Given the description of an element on the screen output the (x, y) to click on. 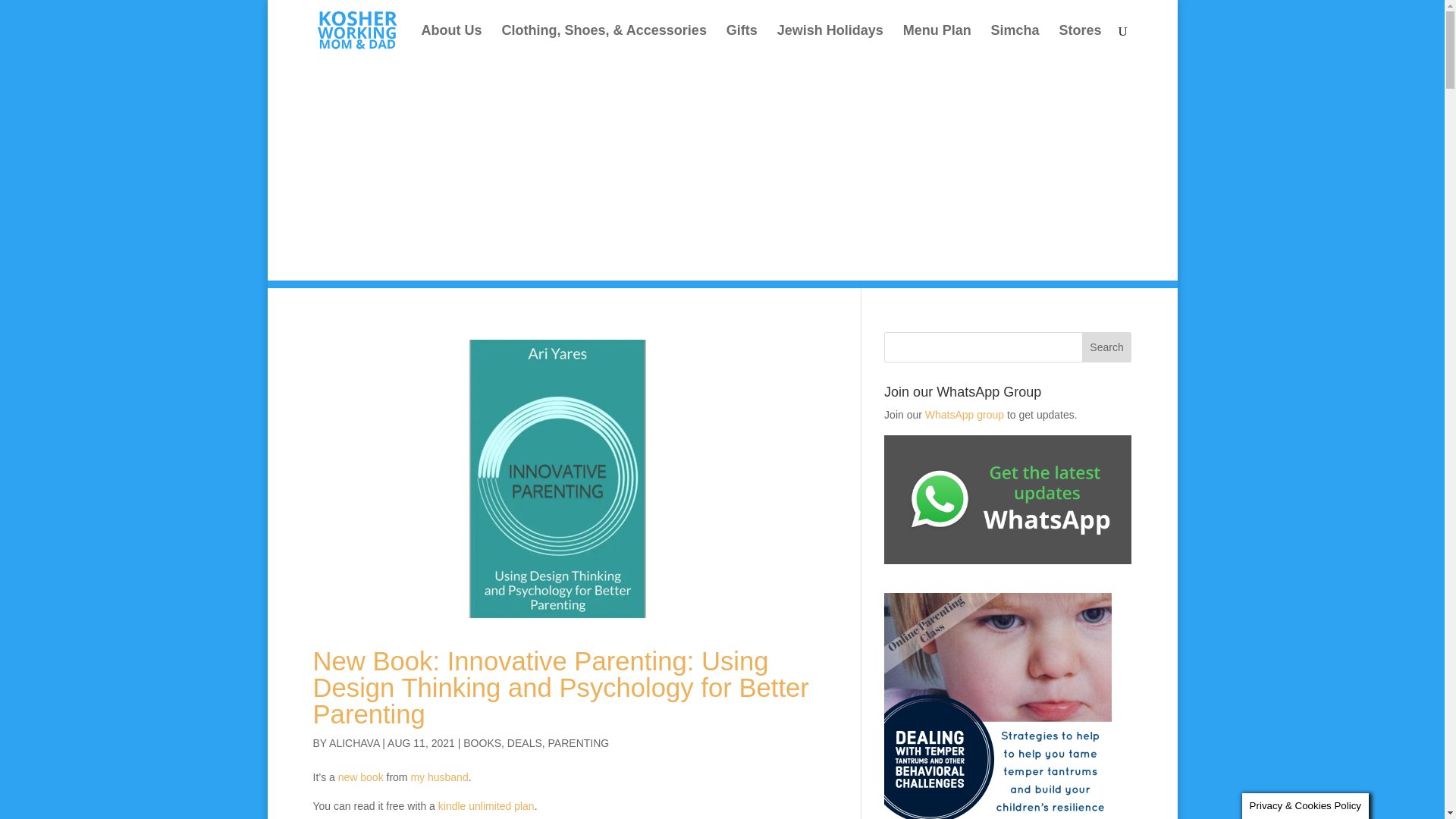
Stores (1079, 42)
Posts by alichava (353, 743)
About Us (451, 42)
Simcha (1015, 42)
Search (1106, 347)
Gifts (741, 42)
Menu Plan (936, 42)
Jewish Holidays (830, 42)
